Given the description of an element on the screen output the (x, y) to click on. 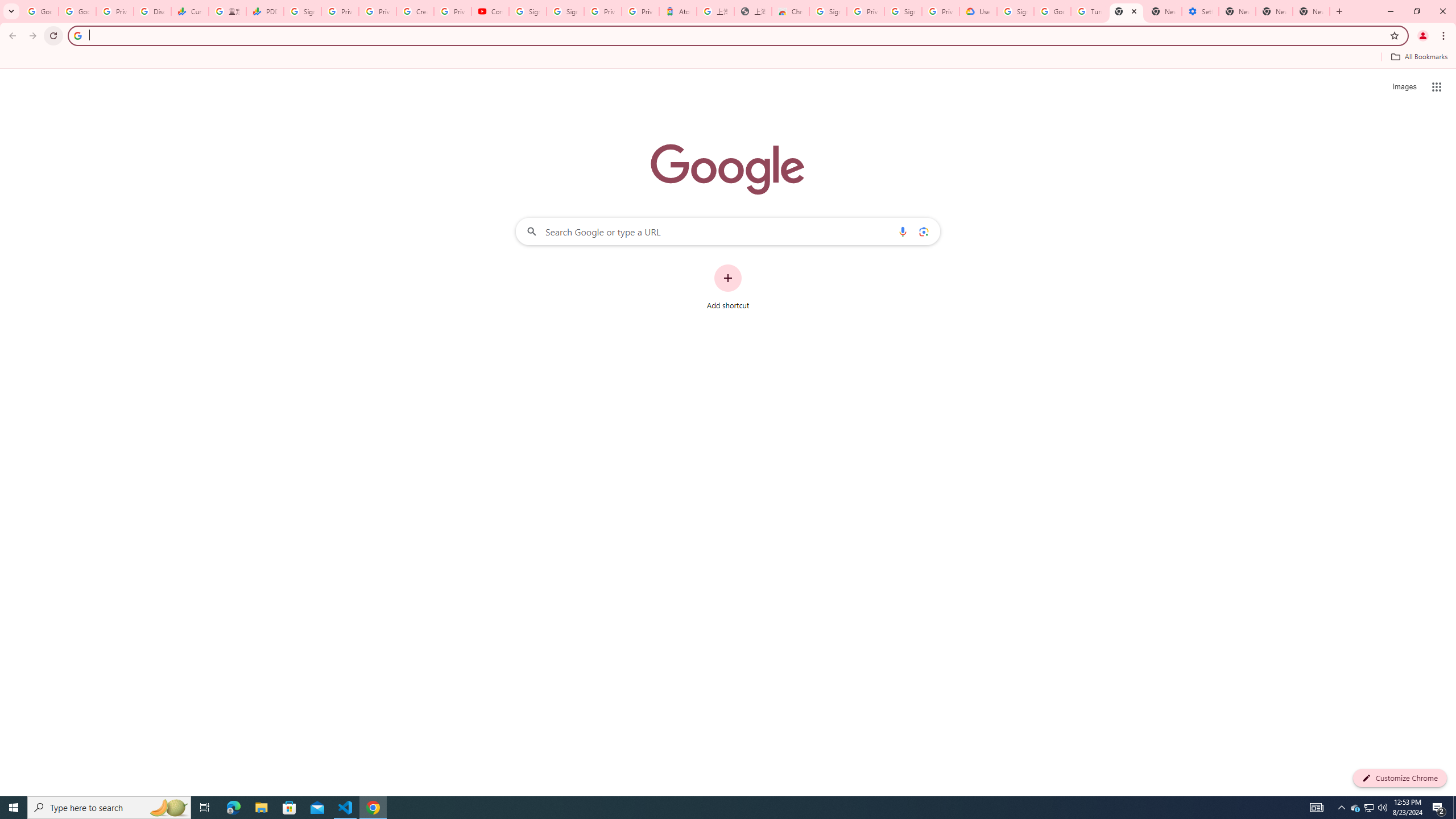
Atour Hotel - Google hotels (677, 11)
Search Google or type a URL (727, 230)
Bookmarks (728, 58)
New Tab (1311, 11)
Sign in - Google Accounts (903, 11)
Currencies - Google Finance (189, 11)
New Tab (1126, 11)
Settings - System (1200, 11)
PDD Holdings Inc - ADR (PDD) Price & News - Google Finance (264, 11)
